Given the description of an element on the screen output the (x, y) to click on. 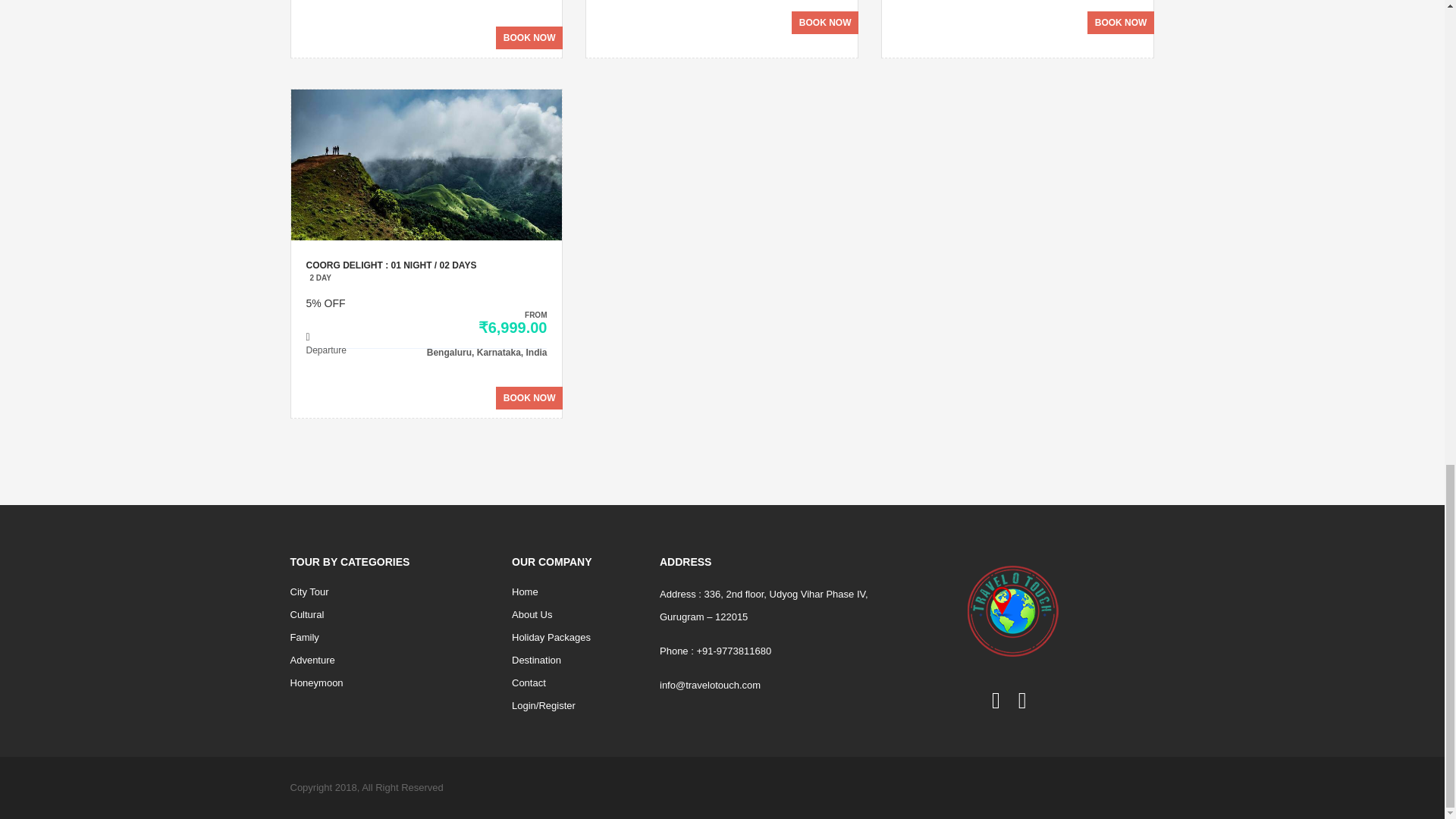
BOOK NOW (1120, 22)
Family (389, 637)
BOOK NOW (825, 22)
Adventure (389, 660)
Honeymoon (389, 682)
City Tour (389, 591)
Home (574, 591)
BOOK NOW (529, 397)
Cultural (389, 614)
BOOK NOW (529, 37)
